Given the description of an element on the screen output the (x, y) to click on. 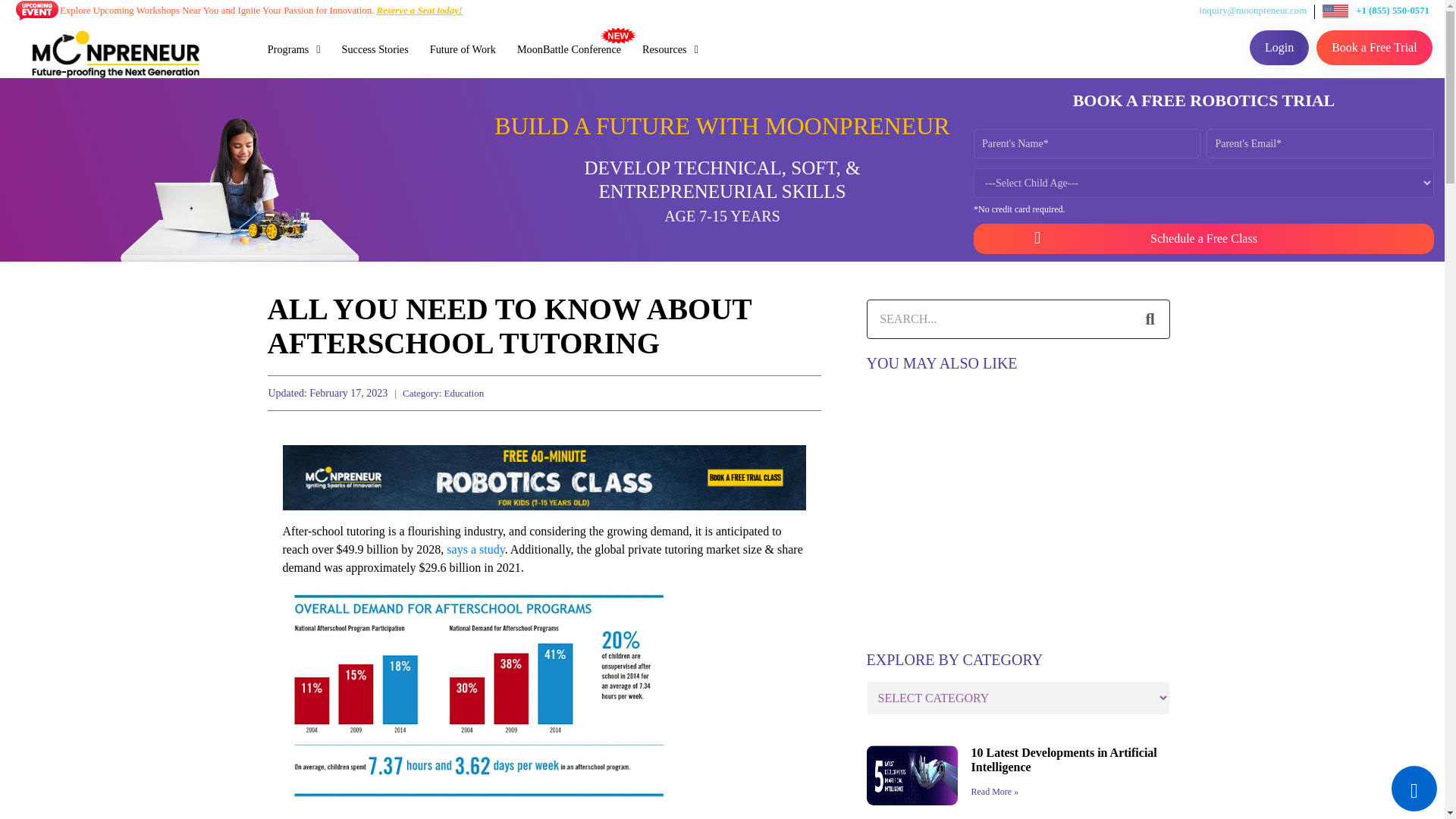
Future of Work (462, 48)
MoonBattle Conference (568, 48)
Success Stories (375, 48)
Resources (670, 48)
Reserve a Seat today! (418, 9)
Programs (294, 48)
